Given the description of an element on the screen output the (x, y) to click on. 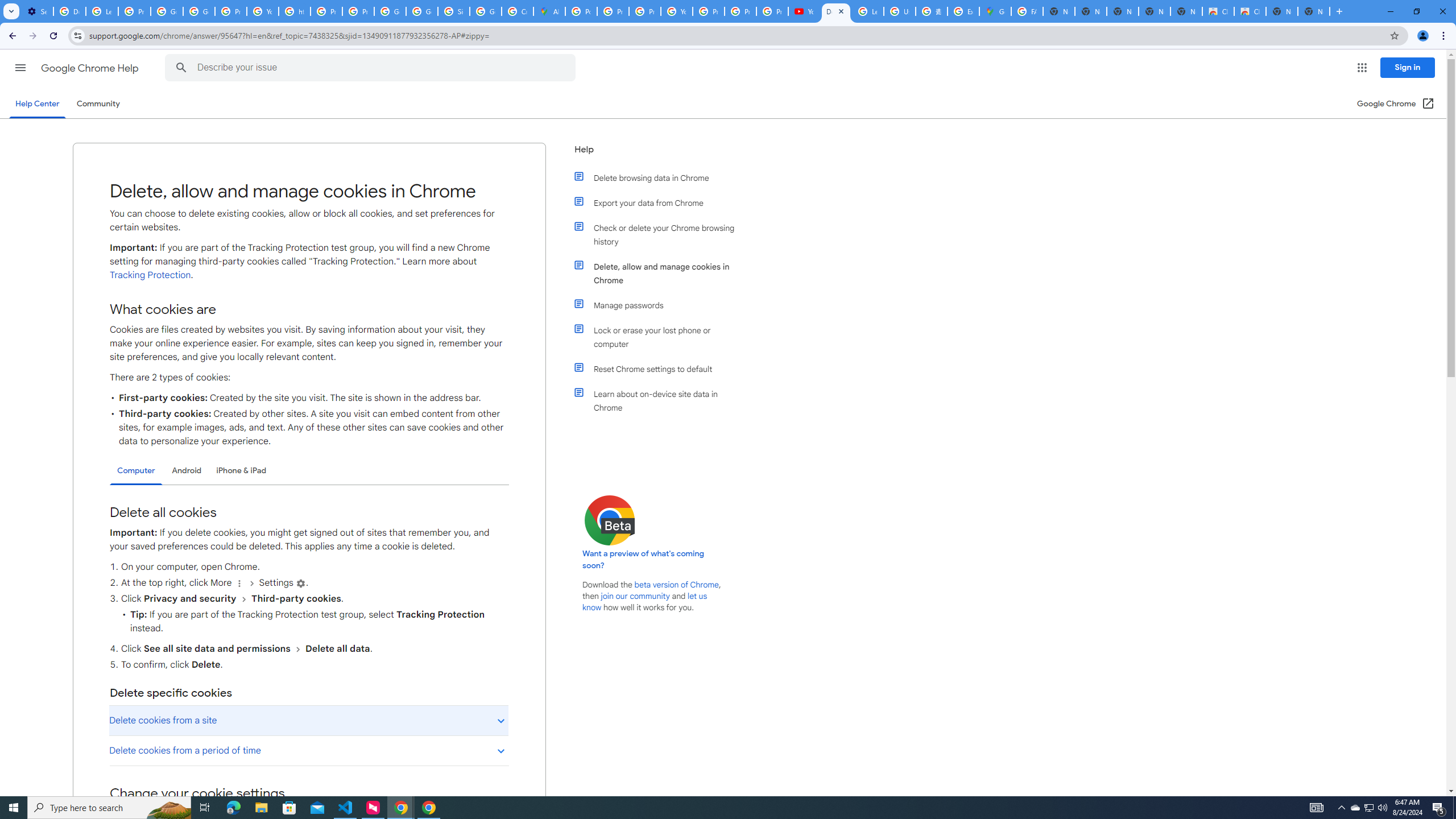
Manage passwords (661, 305)
Describe your issue (371, 67)
join our community (634, 596)
iPhone & iPad (240, 470)
Google Chrome (Open in a new window) (1395, 103)
Check or delete your Chrome browsing history (661, 234)
Privacy Help Center - Policies Help (326, 11)
YouTube (804, 11)
